Given the description of an element on the screen output the (x, y) to click on. 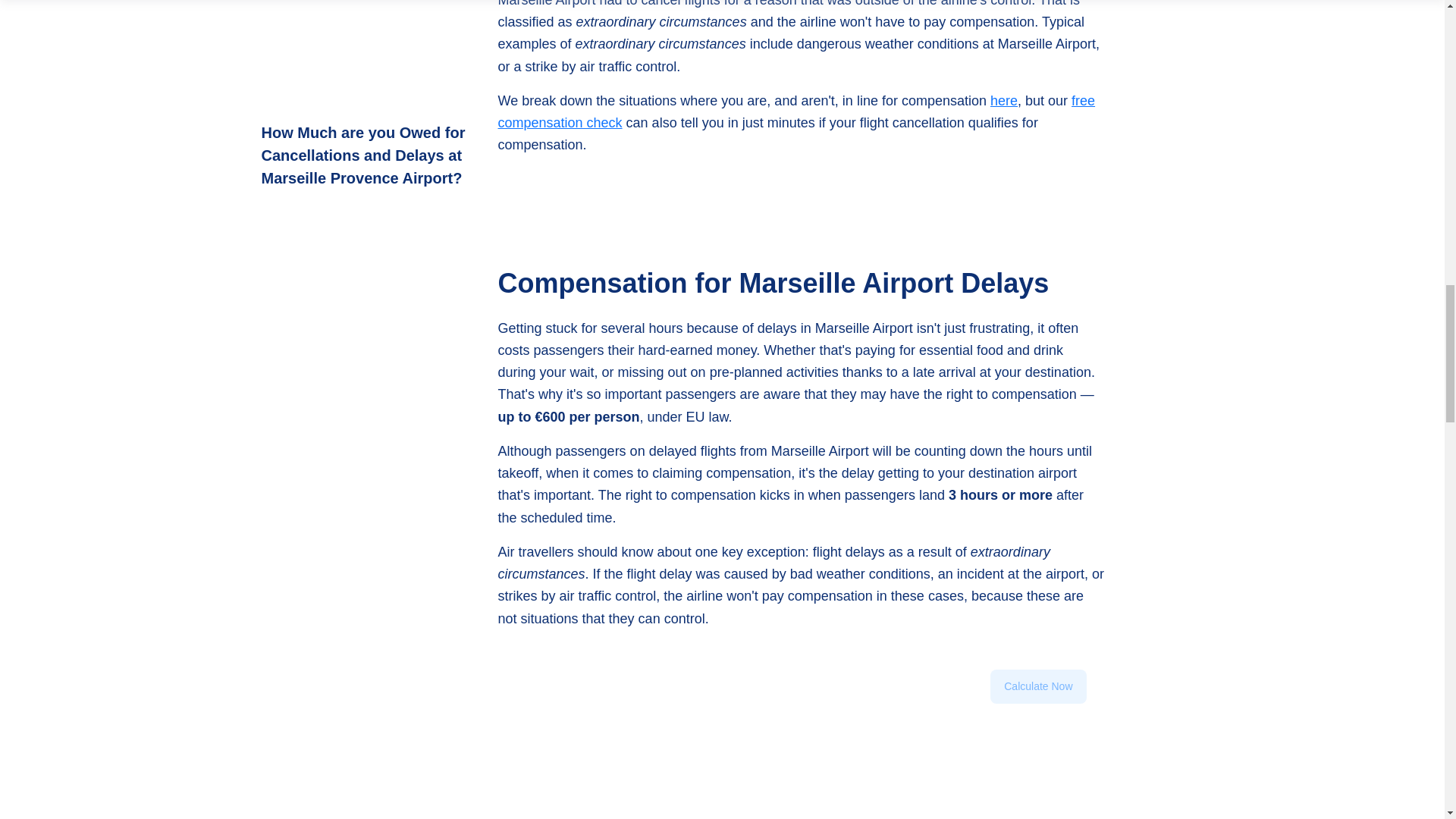
Calculate Now (1038, 686)
Calculate Now (1038, 710)
here (1003, 100)
free compensation check (795, 111)
